Given the description of an element on the screen output the (x, y) to click on. 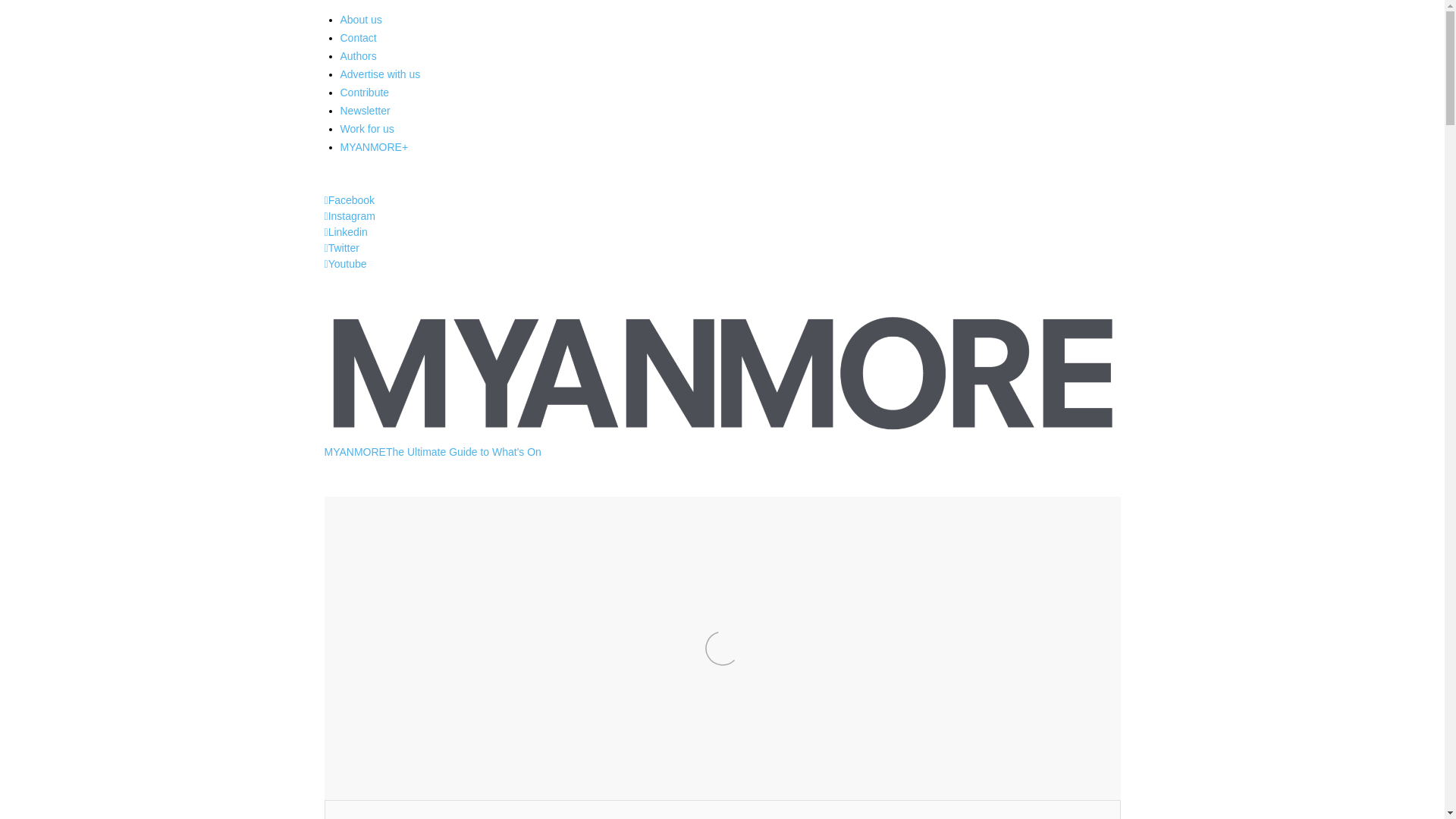
Instagram (349, 215)
Youtube (345, 263)
Linkedin (346, 232)
Facebook (349, 200)
Twitter (341, 247)
